Given the description of an element on the screen output the (x, y) to click on. 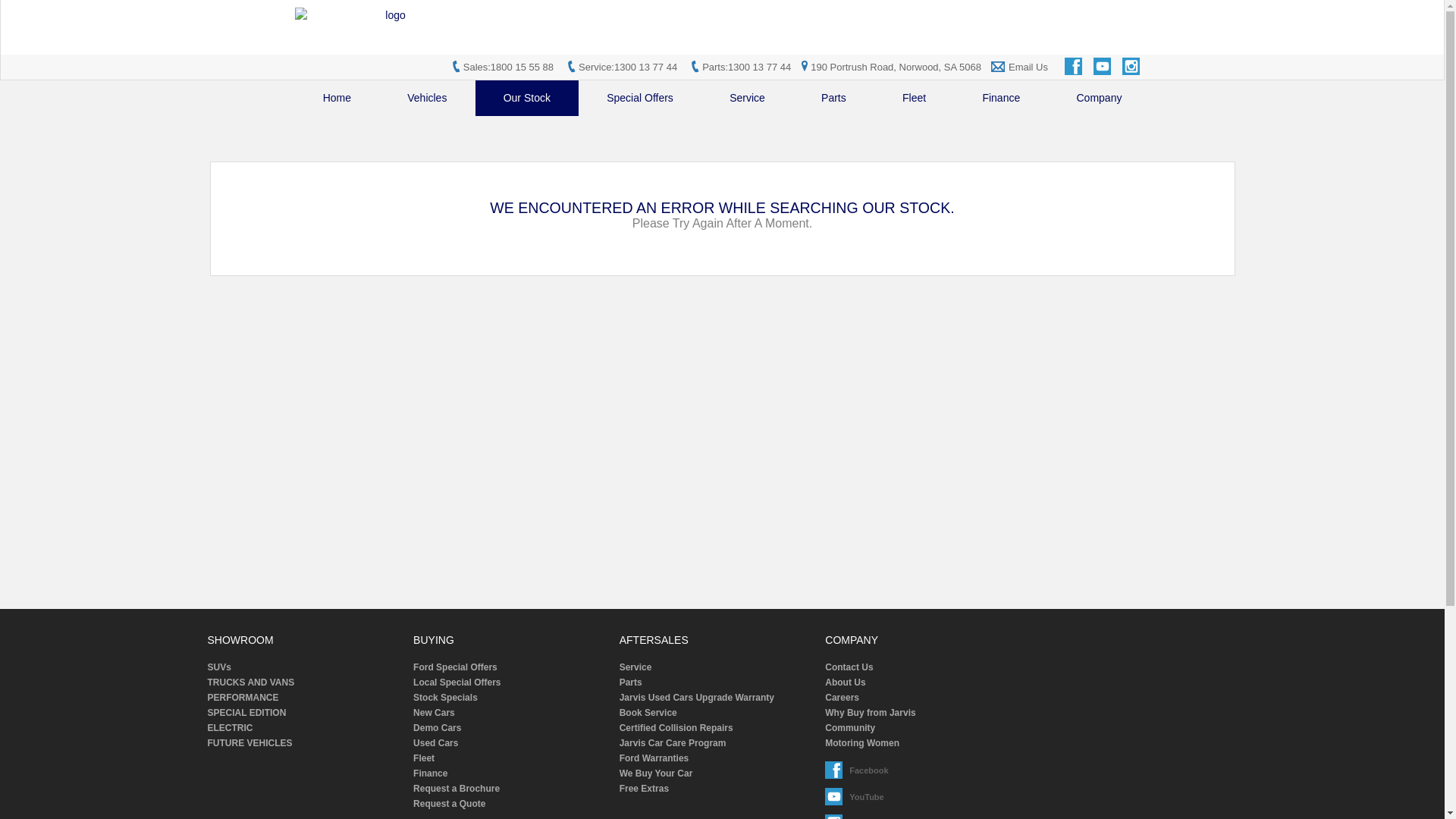
Certified Collision Repairs Element type: text (717, 727)
Facebook Element type: text (834, 770)
Home Element type: text (336, 98)
Special Offers Element type: text (639, 98)
Fleet Element type: text (510, 757)
Jarvis Used Cars Upgrade Warranty Element type: text (717, 697)
Motoring Women Element type: text (922, 742)
Jarvis Car Care Program Element type: text (717, 742)
SPECIAL EDITION Element type: text (305, 712)
190 Portrush Road, Norwood, SA 5068 Element type: text (889, 66)
Community Element type: text (922, 727)
Facebook Element type: text (1074, 66)
Why Buy from Jarvis Element type: text (922, 712)
Stock Specials Element type: text (510, 697)
Parts Element type: text (833, 98)
Service Element type: text (747, 98)
Request a Brochure Element type: text (510, 788)
Finance Element type: text (1000, 98)
Parts Element type: text (717, 682)
Company Element type: text (1098, 98)
TRUCKS AND VANS Element type: text (305, 682)
Email Us Element type: text (1028, 66)
SUVs Element type: text (305, 666)
About Us Element type: text (922, 682)
New Cars Element type: text (510, 712)
Fleet Element type: text (913, 98)
Parts:1300 13 77 44 Element type: text (746, 66)
Vehicles Element type: text (426, 98)
Local Special Offers Element type: text (510, 682)
Demo Cars Element type: text (510, 727)
Sales:1800 15 55 88 Element type: text (508, 66)
YouTube Element type: text (1103, 66)
Instagram Element type: text (1132, 66)
Contact Us Element type: text (922, 666)
Free Extras Element type: text (717, 788)
ELECTRIC Element type: text (305, 727)
YouTube Element type: text (834, 796)
Service:1300 13 77 44 Element type: text (627, 66)
PERFORMANCE Element type: text (305, 697)
Our Stock Element type: text (527, 98)
Used Cars Element type: text (510, 742)
Ford Warranties Element type: text (717, 757)
Request a Quote Element type: text (510, 803)
FUTURE VEHICLES Element type: text (305, 742)
Finance Element type: text (510, 773)
Book Service Element type: text (717, 712)
Careers Element type: text (922, 697)
We Buy Your Car Element type: text (717, 773)
Service Element type: text (717, 666)
Ford Special Offers Element type: text (510, 666)
